Given the description of an element on the screen output the (x, y) to click on. 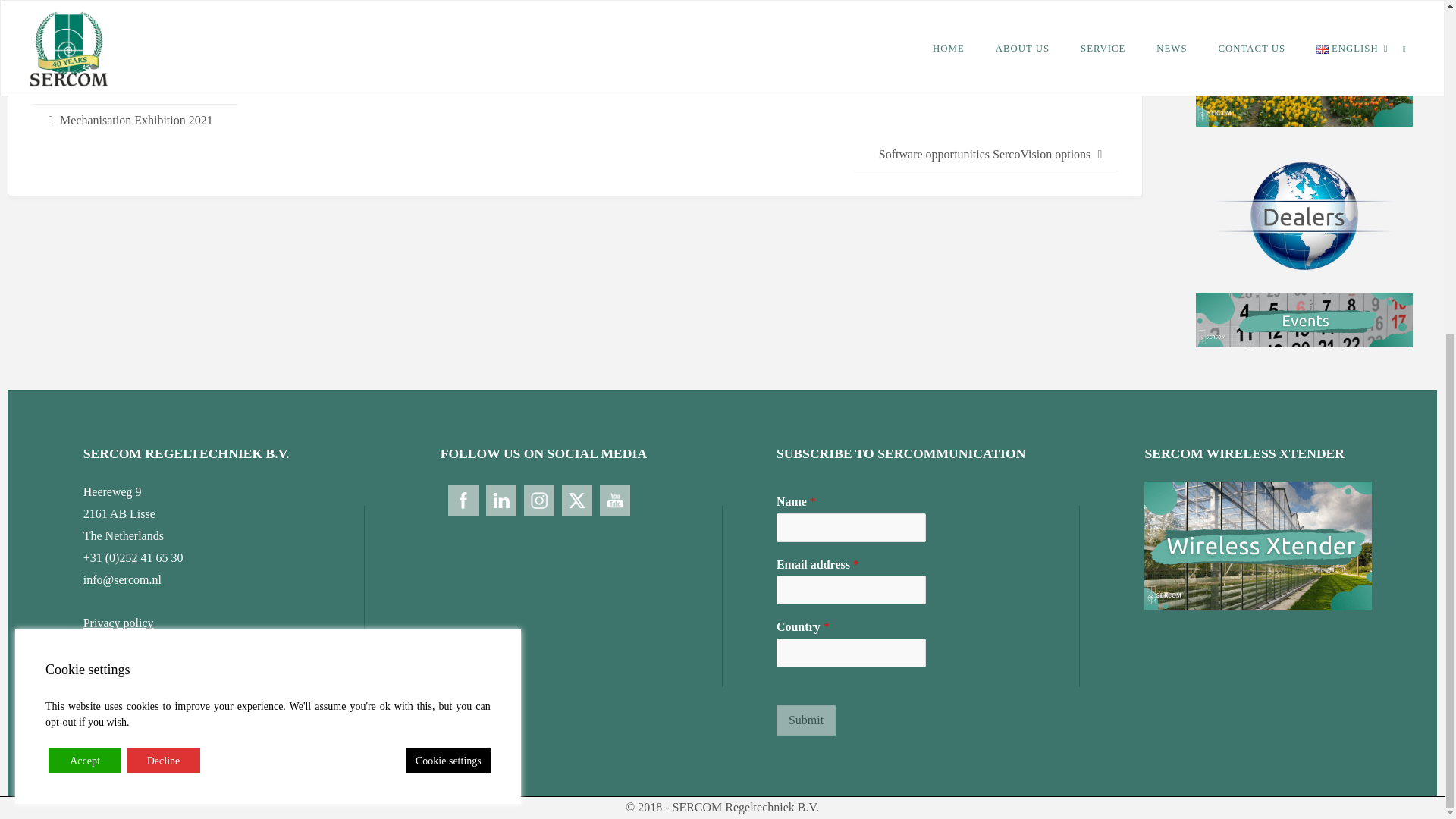
WhatsApp (199, 53)
XING (229, 53)
LinkedIn (108, 53)
Messenger (77, 53)
Twitter (138, 53)
Facebook (47, 53)
Messenger (77, 53)
Facebook (47, 53)
LinkedIn (108, 53)
VK (259, 53)
